Given the description of an element on the screen output the (x, y) to click on. 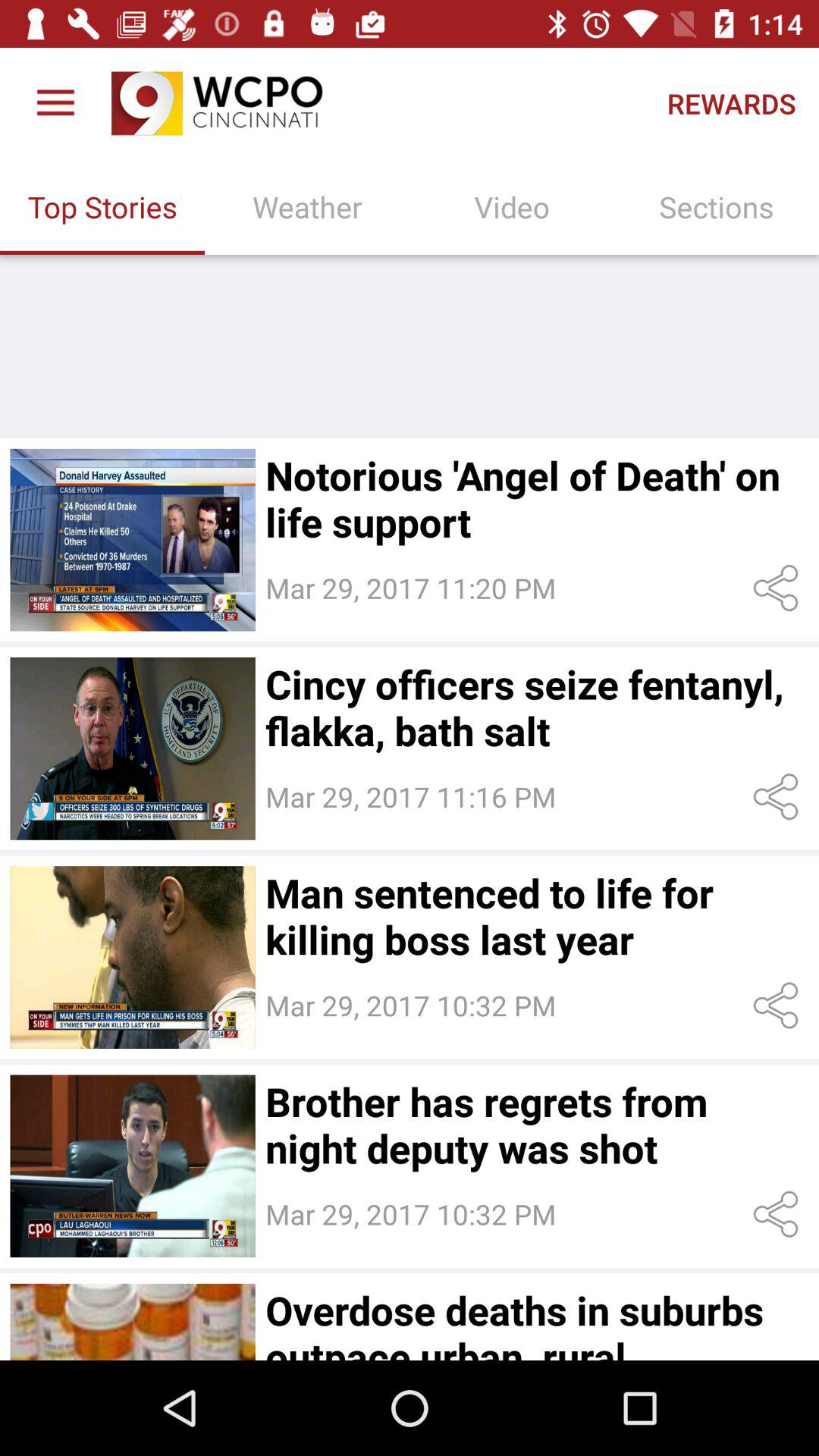
open share links (778, 588)
